Given the description of an element on the screen output the (x, y) to click on. 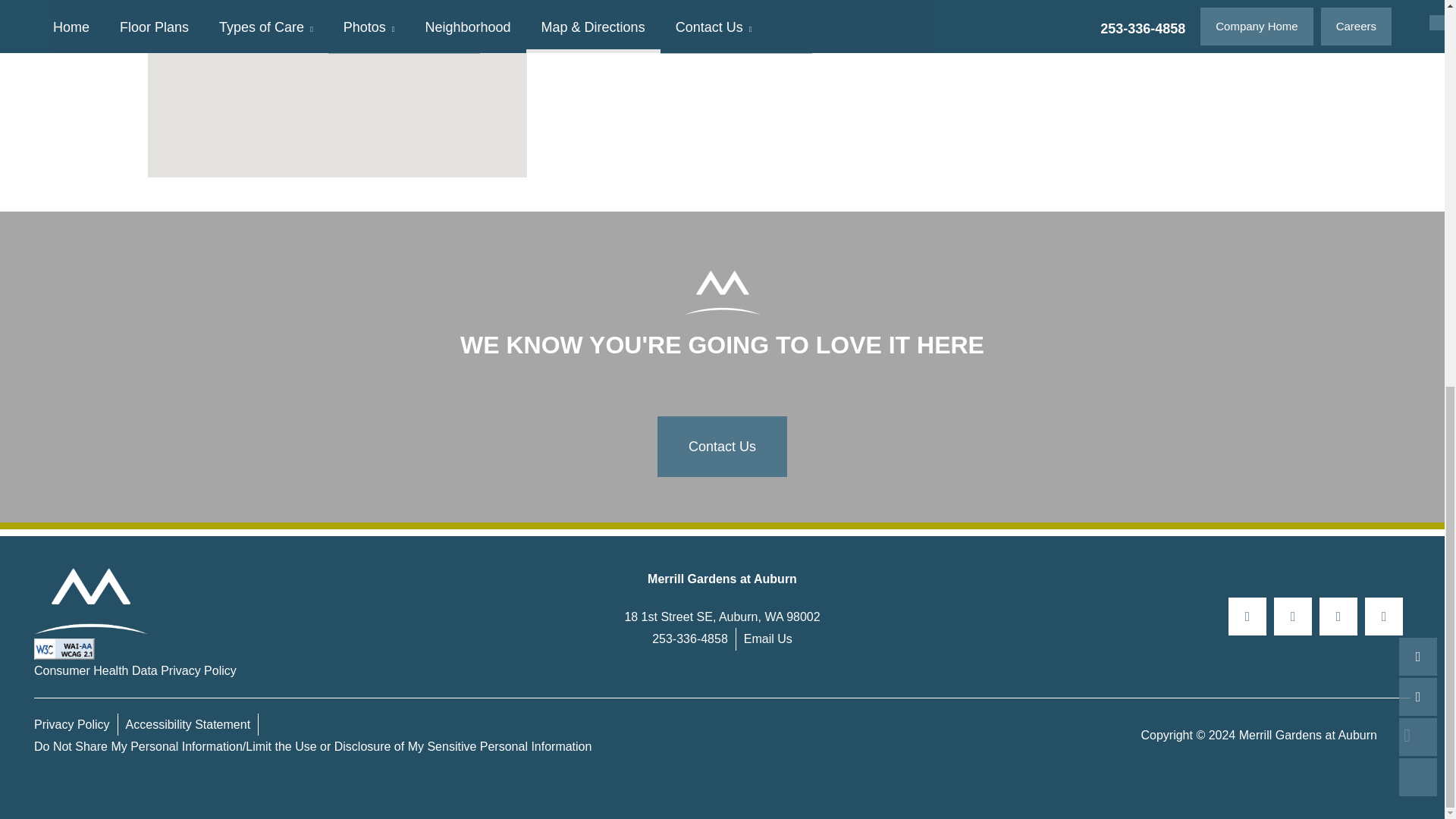
Facebook (1247, 616)
Property Phone Number (690, 639)
Instagram (1292, 616)
YouTube (1337, 616)
Google My Business (1384, 616)
Scroll Up (1418, 13)
Scroll Down (1418, 47)
